Given the description of an element on the screen output the (x, y) to click on. 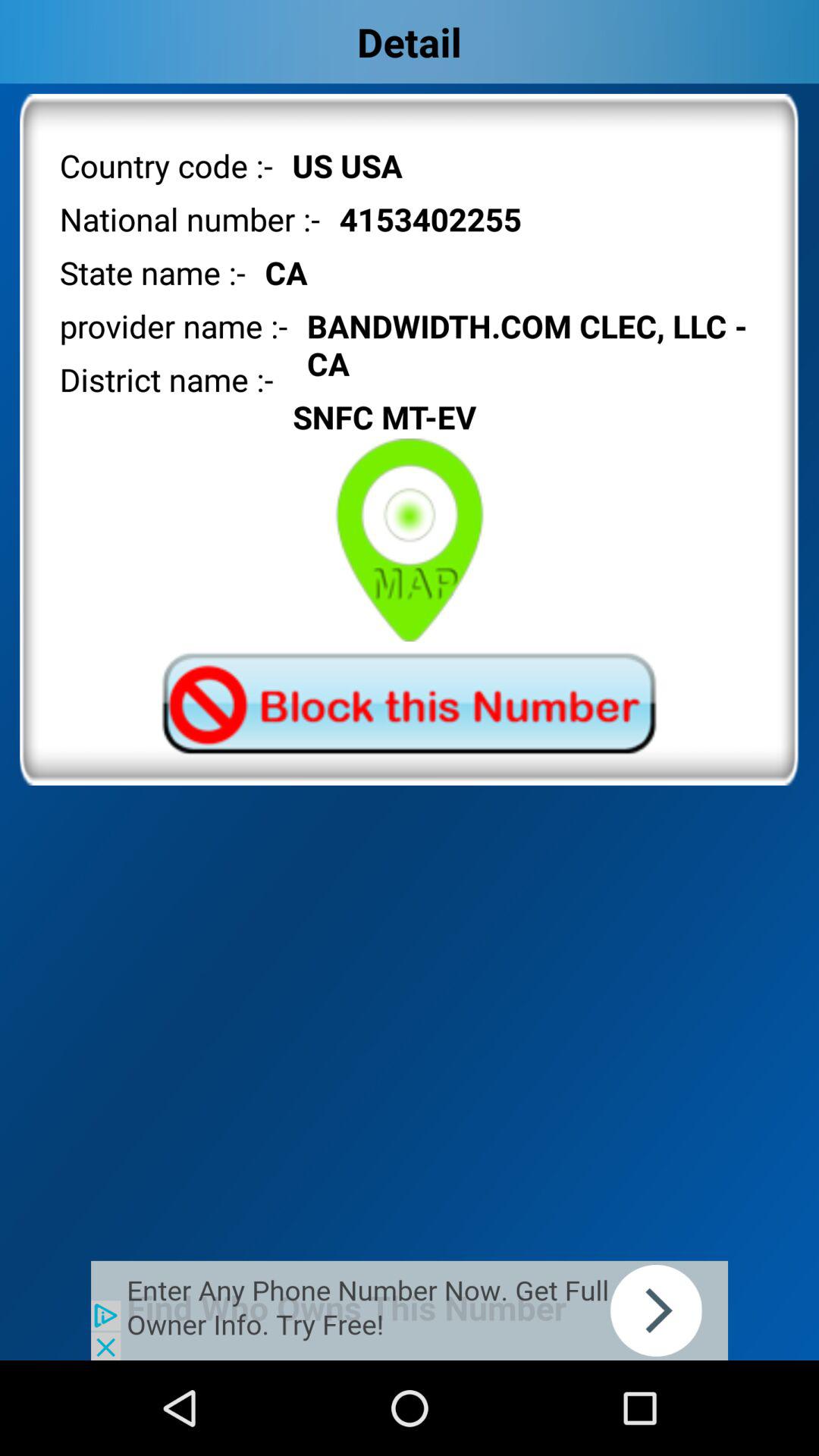
go to location (409, 539)
